Given the description of an element on the screen output the (x, y) to click on. 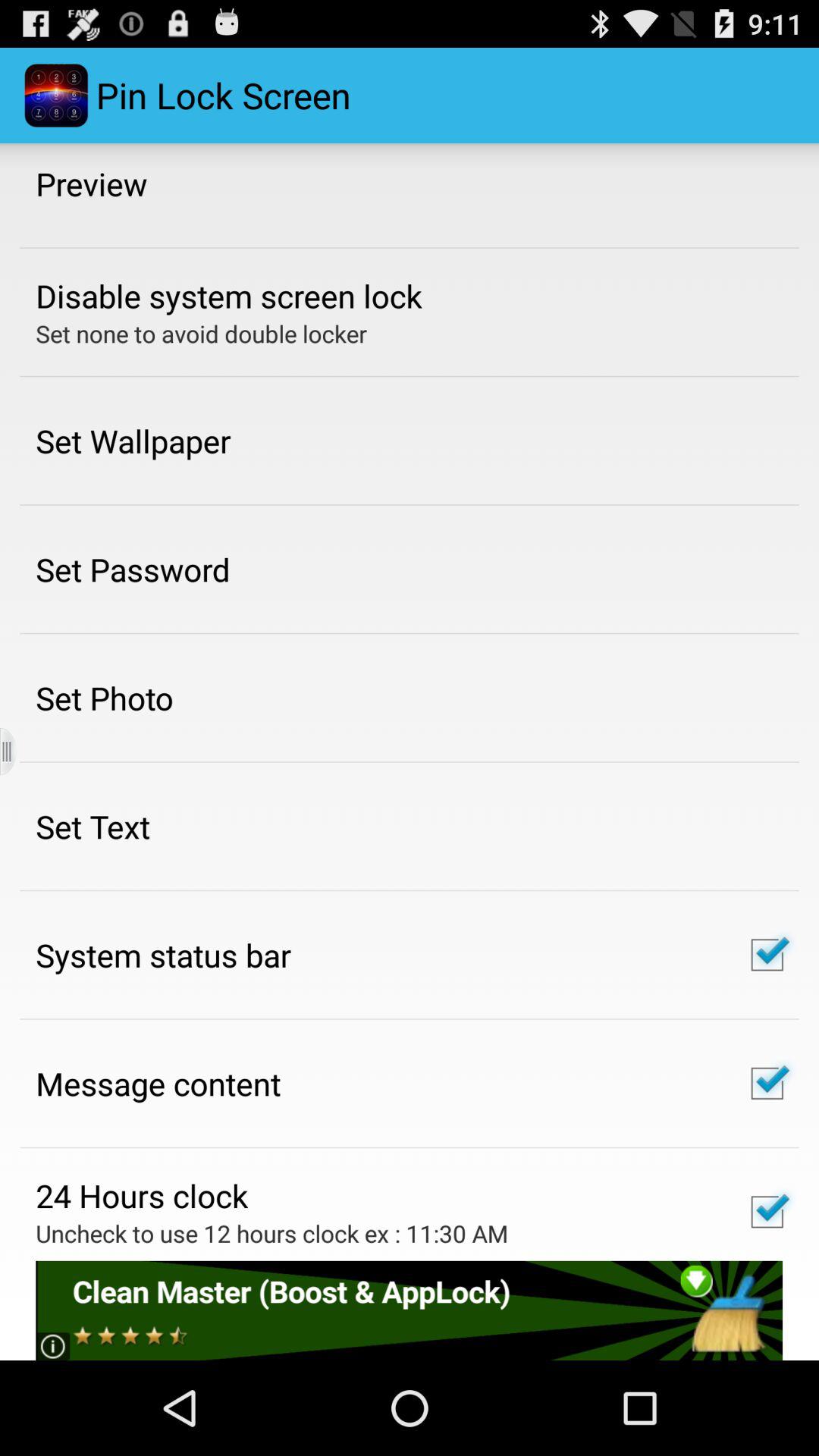
go to advertisement (408, 1310)
